Given the description of an element on the screen output the (x, y) to click on. 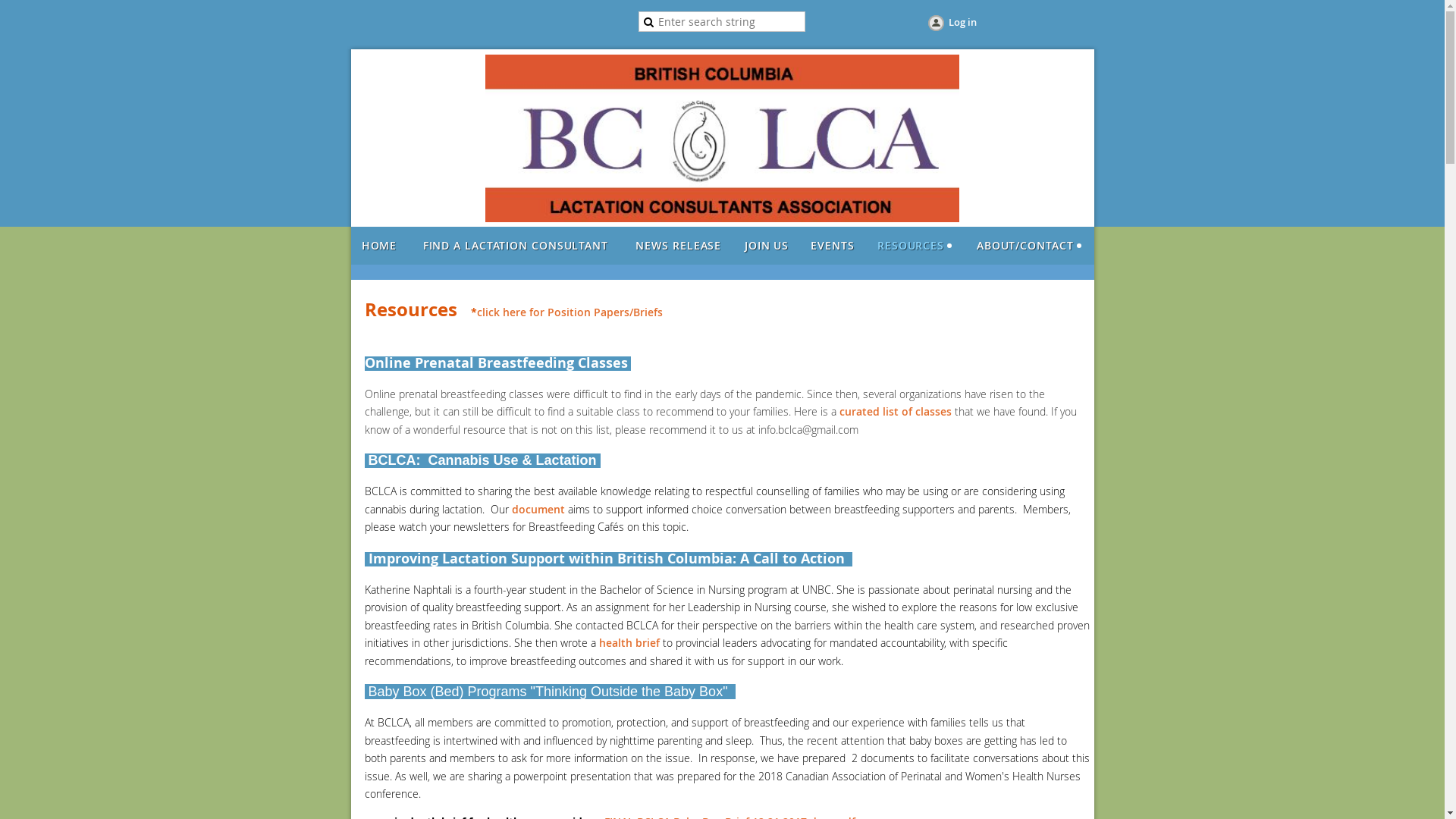
click here for Position Papers/Briefs Element type: text (569, 311)
 BCLCA:  Cannabis Use & Lactation  Element type: text (481, 460)
document Element type: text (537, 509)
ABOUT/CONTACT Element type: text (1028, 245)
RESOURCES Element type: text (914, 245)
NEWS RELEASE Element type: text (678, 245)
HOME Element type: text (378, 245)
  Element type: text (628, 363)
health brief Element type: text (629, 642)
JOIN US Element type: text (766, 245)
FIND A LACTATION CONSULTANT Element type: text (515, 245)
Log in Element type: text (950, 24)
curated list of classes Element type: text (894, 411)
EVENTS Element type: text (832, 245)
